Given the description of an element on the screen output the (x, y) to click on. 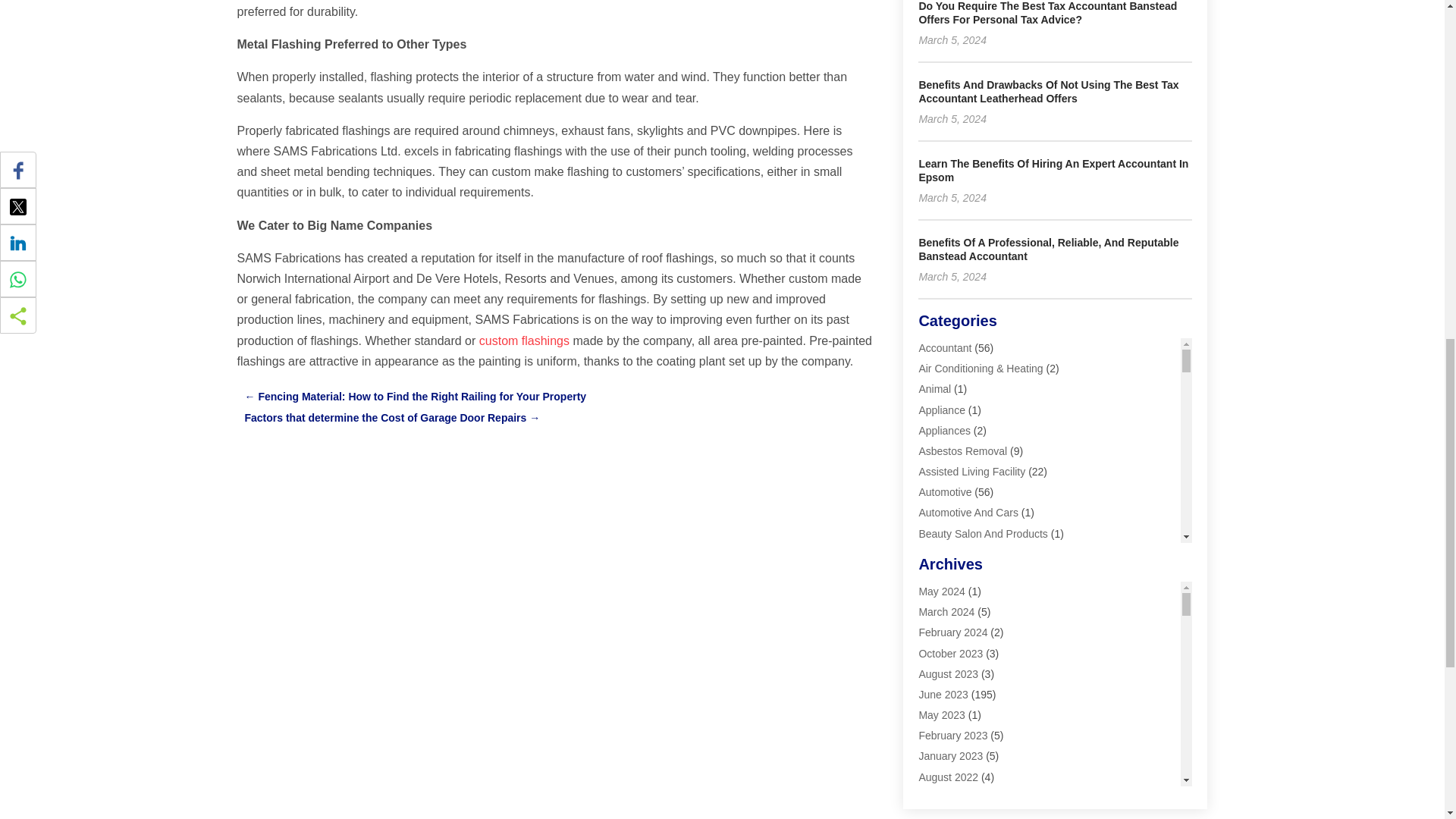
Automotive (944, 491)
Builders (937, 594)
Learn The Benefits Of Hiring An Expert Accountant In Epsom (1053, 170)
Beauty Salon And Products (982, 533)
Appliance (941, 410)
Accountant (944, 347)
Assisted Living Facility (971, 471)
custom flashings (524, 340)
Boiler Service (951, 574)
Appliances (944, 430)
Automotive And Cars (967, 512)
Blinds (932, 553)
